Given the description of an element on the screen output the (x, y) to click on. 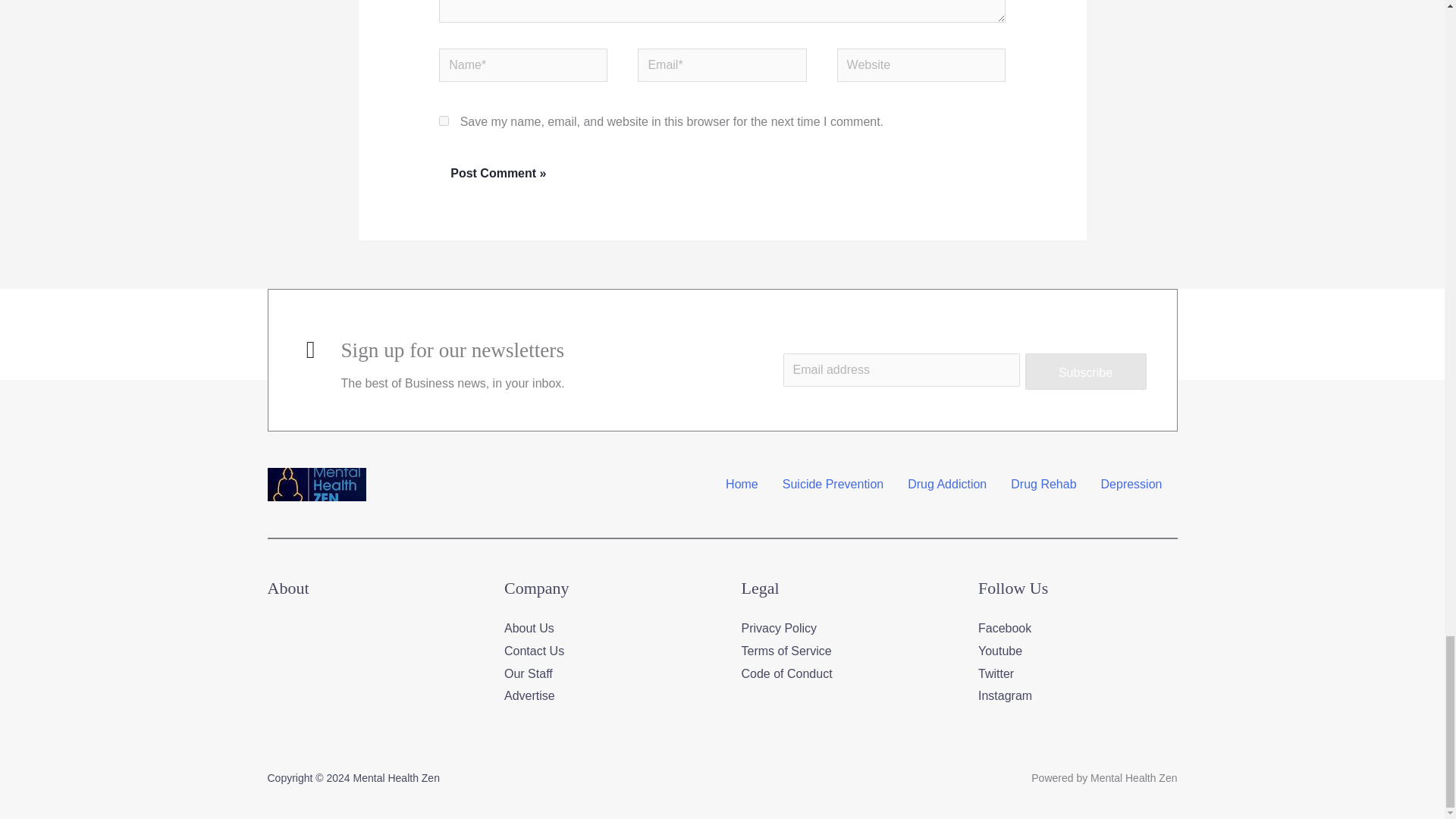
wpforms-submit (1086, 370)
yes (443, 121)
Home (741, 484)
Depression (1131, 484)
Drug Rehab (1042, 484)
Drug Addiction (946, 484)
Suicide Prevention (832, 484)
